Given the description of an element on the screen output the (x, y) to click on. 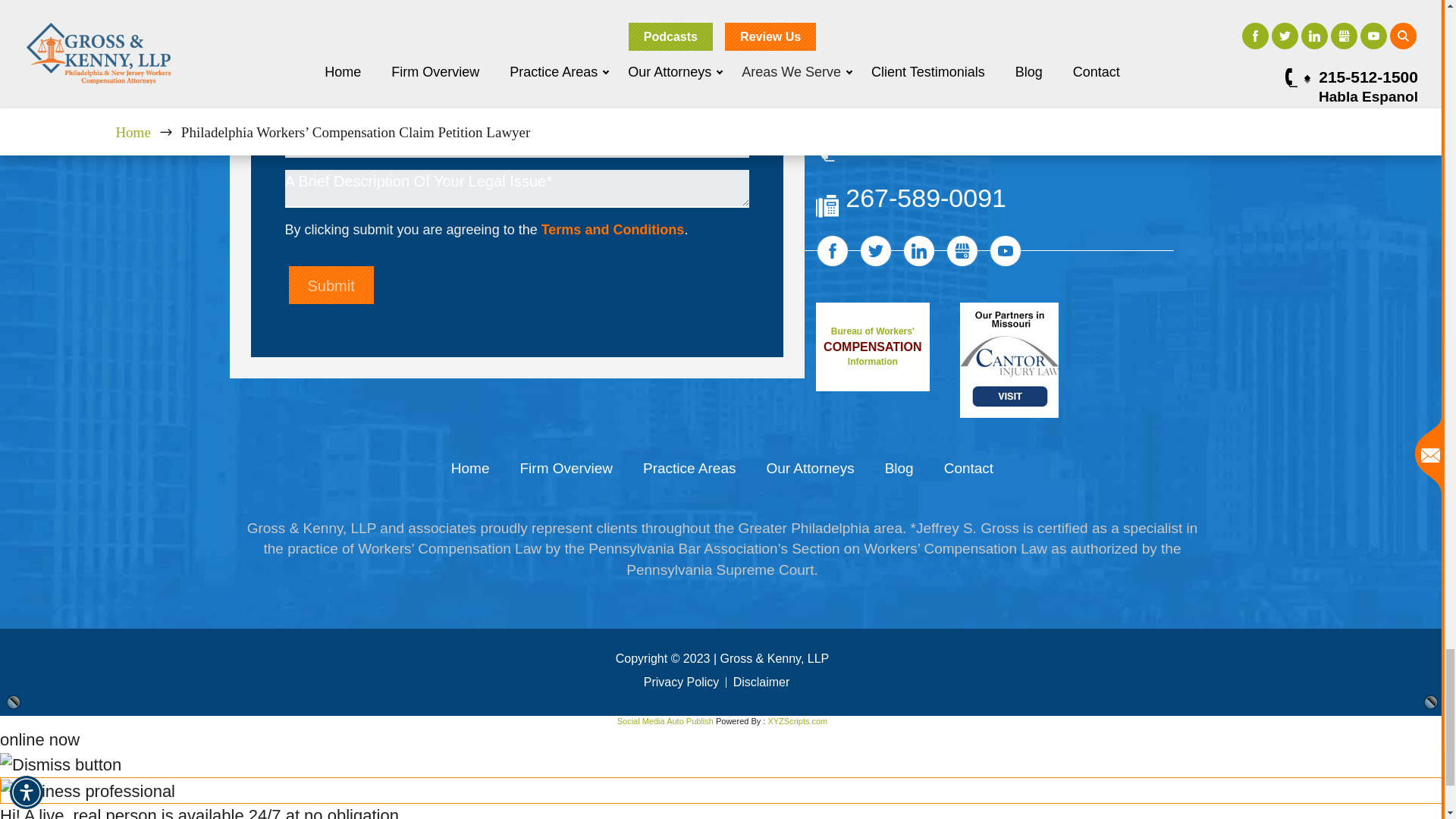
Submit (331, 286)
Terms and Conditions (612, 229)
Social Media Auto Publish (665, 720)
